Given the description of an element on the screen output the (x, y) to click on. 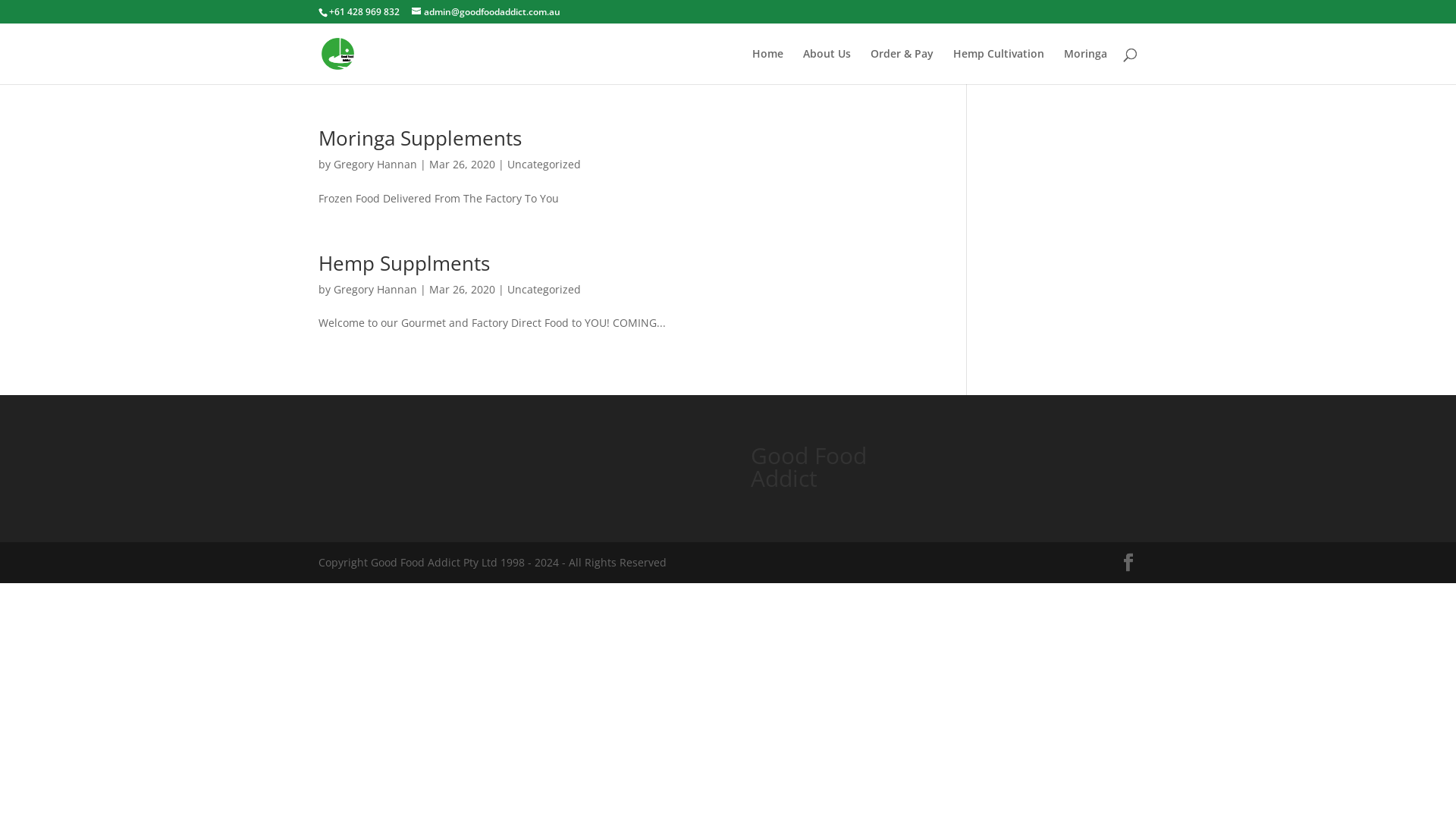
Hemp Cultivation Element type: text (998, 66)
Hemp Supplments Element type: text (403, 262)
Gregory Hannan Element type: text (375, 289)
Gregory Hannan Element type: text (375, 163)
Moringa Supplements Element type: text (419, 137)
Order & Pay Element type: text (901, 66)
Moringa Element type: text (1085, 66)
admin@goodfoodaddict.com.au Element type: text (485, 11)
Uncategorized Element type: text (543, 163)
Uncategorized Element type: text (543, 289)
About Us Element type: text (826, 66)
Home Element type: text (767, 66)
